Given the description of an element on the screen output the (x, y) to click on. 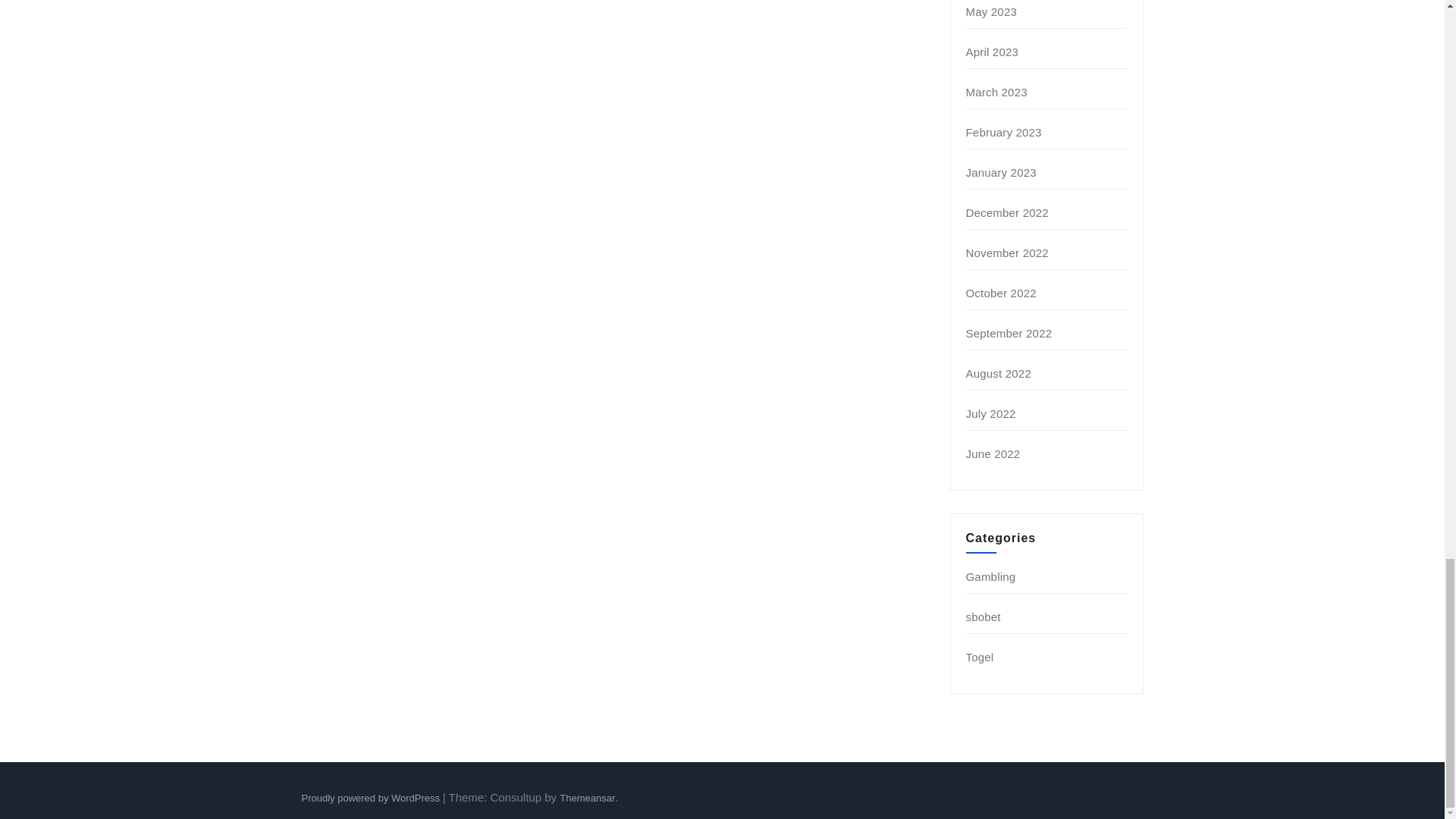
September 2022 (1009, 332)
May 2023 (991, 11)
October 2022 (1001, 292)
April 2023 (992, 51)
December 2022 (1007, 212)
February 2023 (1004, 132)
January 2023 (1001, 172)
November 2022 (1007, 252)
March 2023 (996, 91)
